Given the description of an element on the screen output the (x, y) to click on. 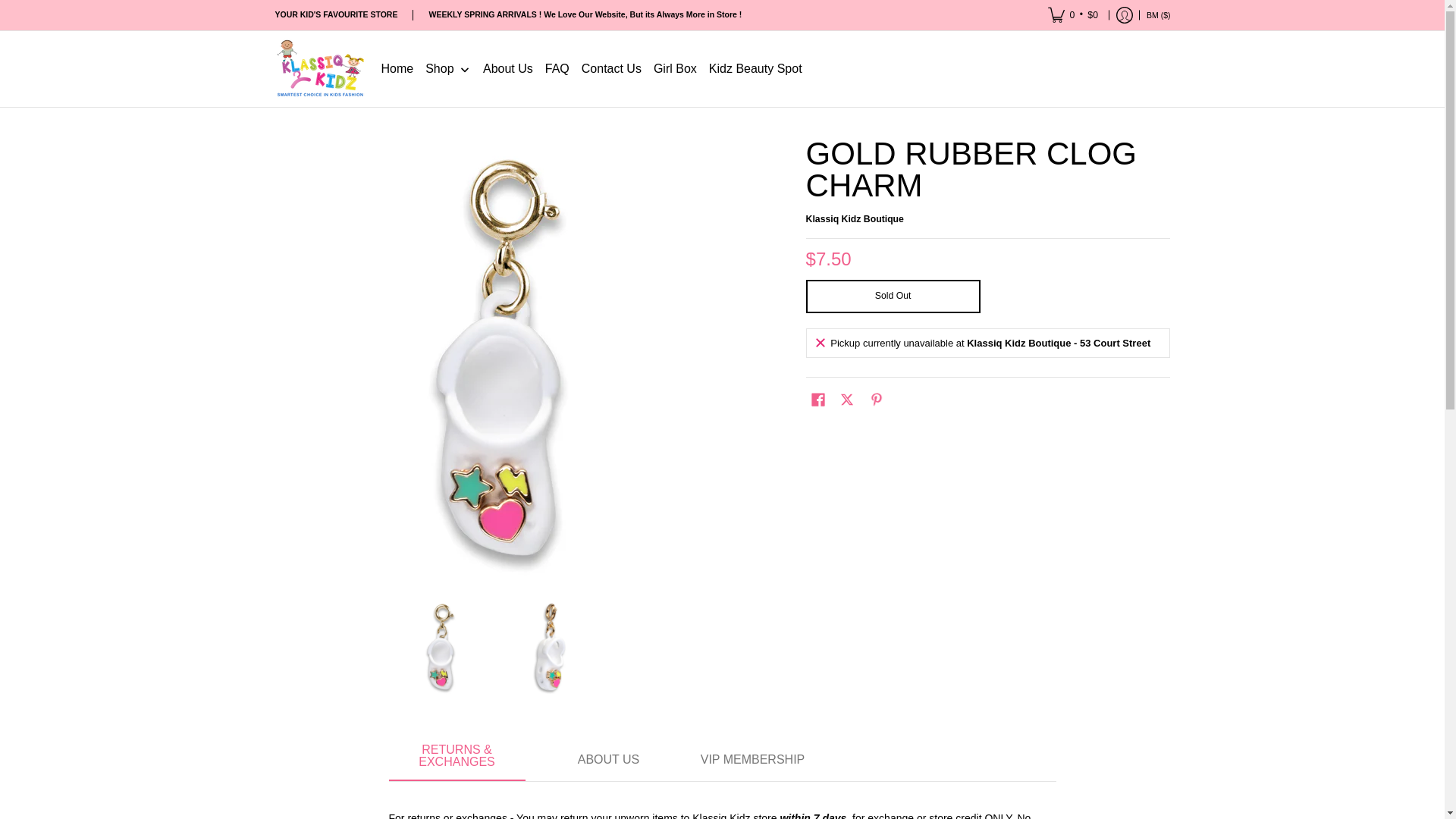
Skip to Main Content (276, 147)
BF (1012, 32)
Klassiq Kidz Boutique (855, 218)
About Us (608, 760)
Skip to Main Content (2, 9)
BG (1002, 5)
Post on X (846, 399)
Cart (1072, 15)
VIP Membership (752, 760)
Log in (1124, 15)
Share on Facebook (818, 399)
Pin on Pinterest (876, 399)
Skip to Main Content (2, 9)
Klassiq Kidz Boutique (320, 69)
